Given the description of an element on the screen output the (x, y) to click on. 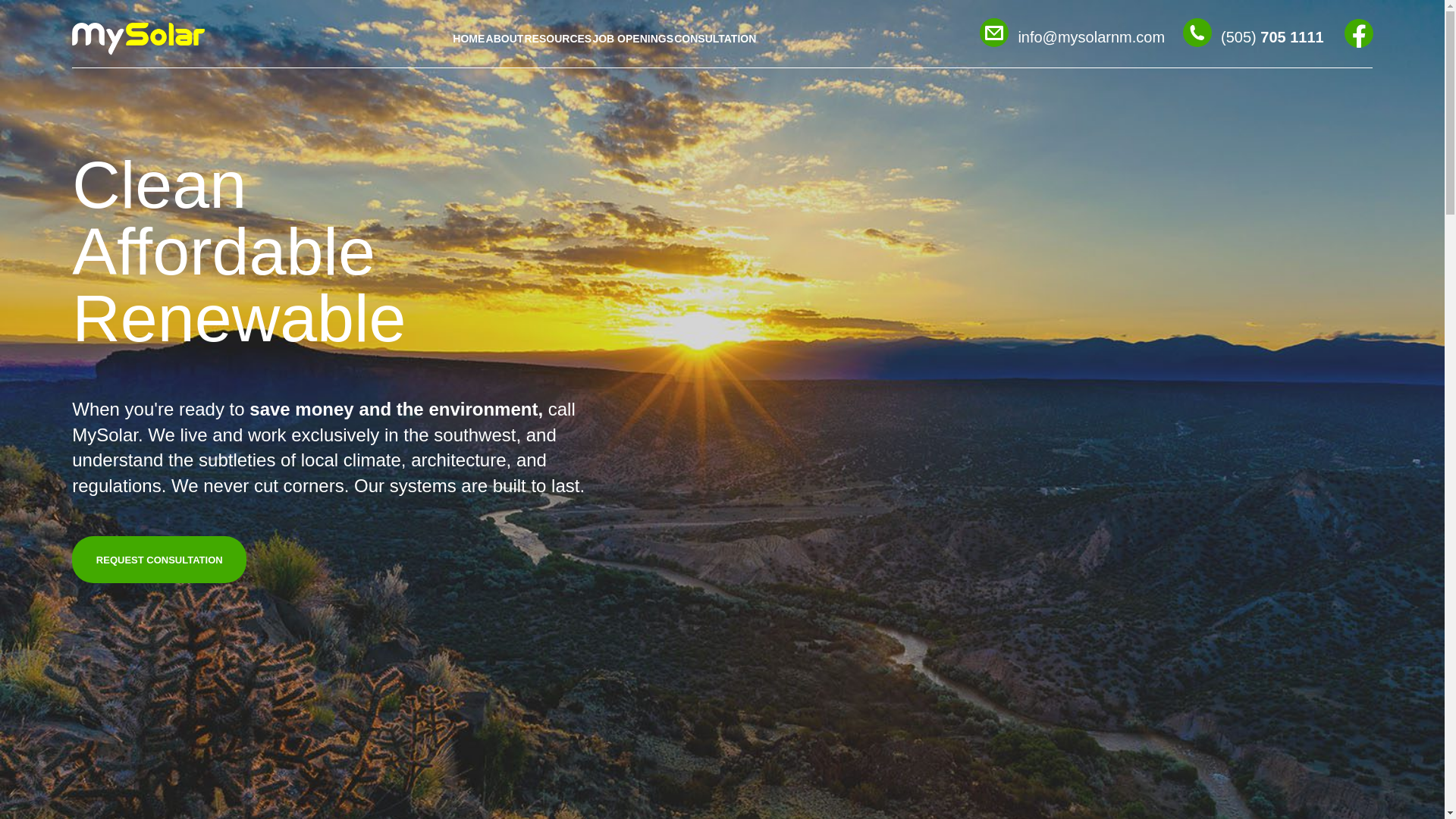
RESOURCES (558, 53)
FB (1358, 32)
CONSULTATION (714, 53)
ABOUT (505, 53)
JOB OPENINGS (632, 53)
REQUEST CONSULTATION (158, 559)
